Given the description of an element on the screen output the (x, y) to click on. 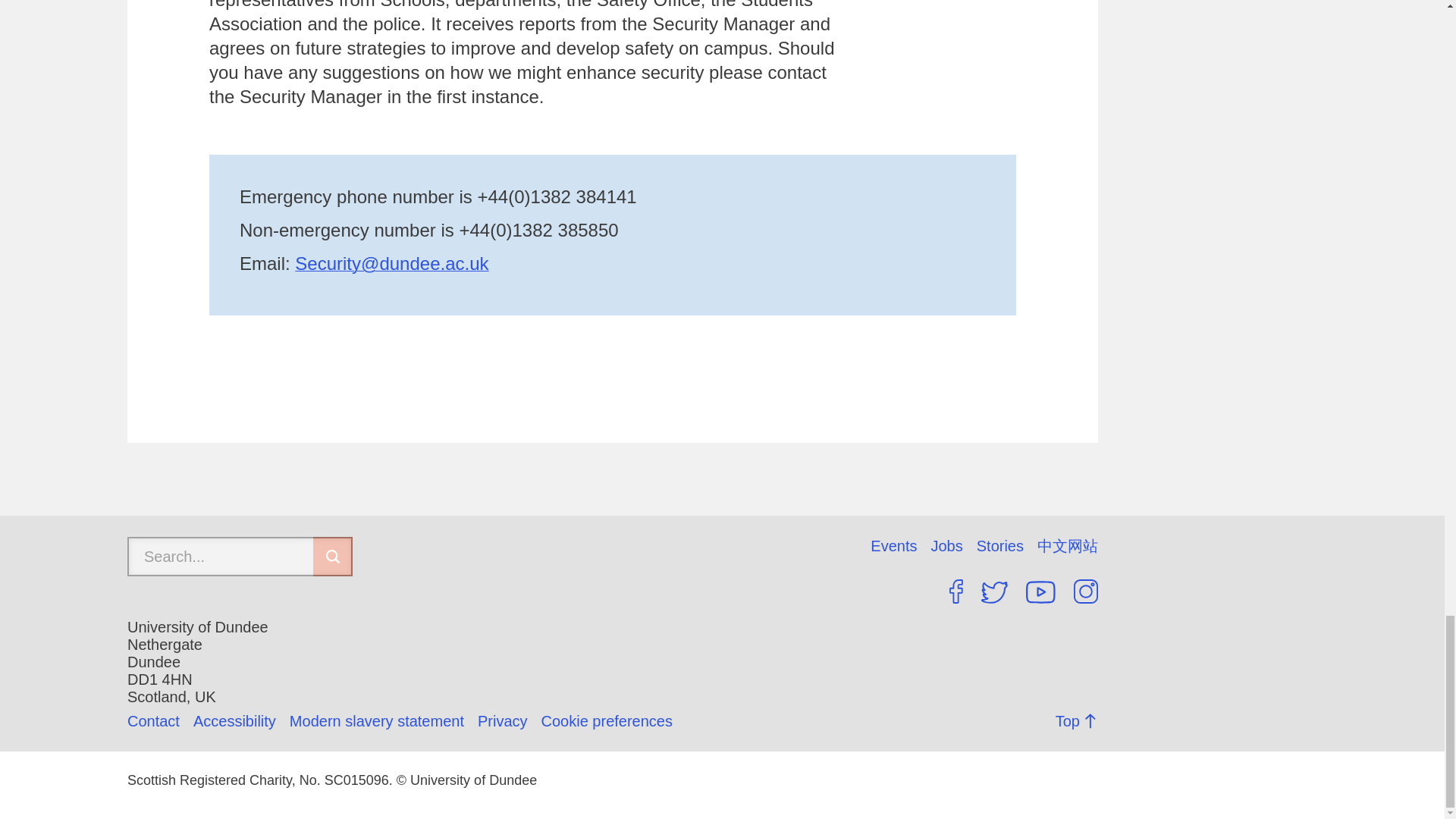
Twitter (994, 592)
Youtube (1040, 591)
Explore our Chinese language website  (1066, 546)
Find events that are happening at the University of Dundee (900, 546)
Instagram (1085, 591)
